Given the description of an element on the screen output the (x, y) to click on. 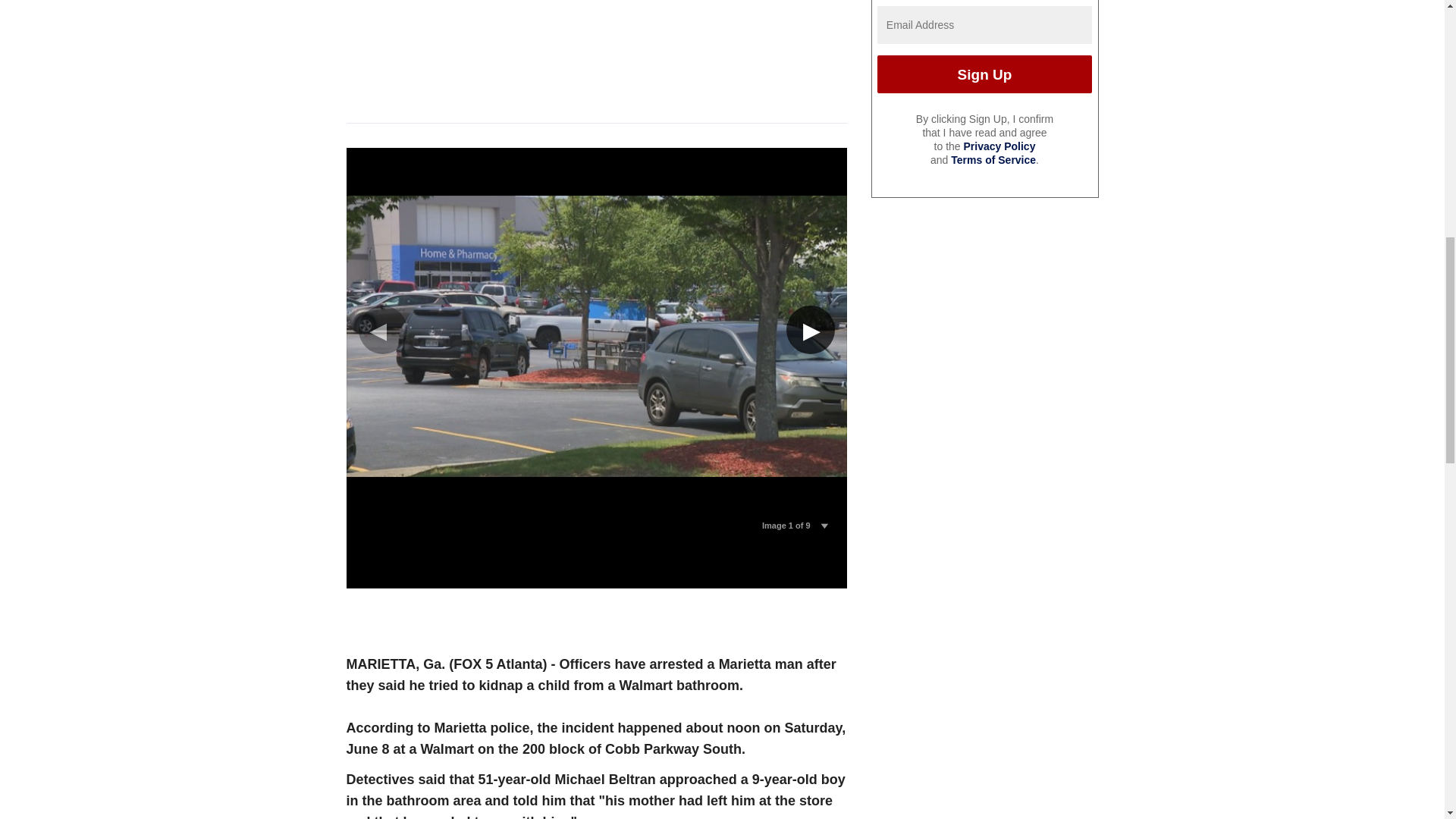
Sign Up (984, 74)
